Given the description of an element on the screen output the (x, y) to click on. 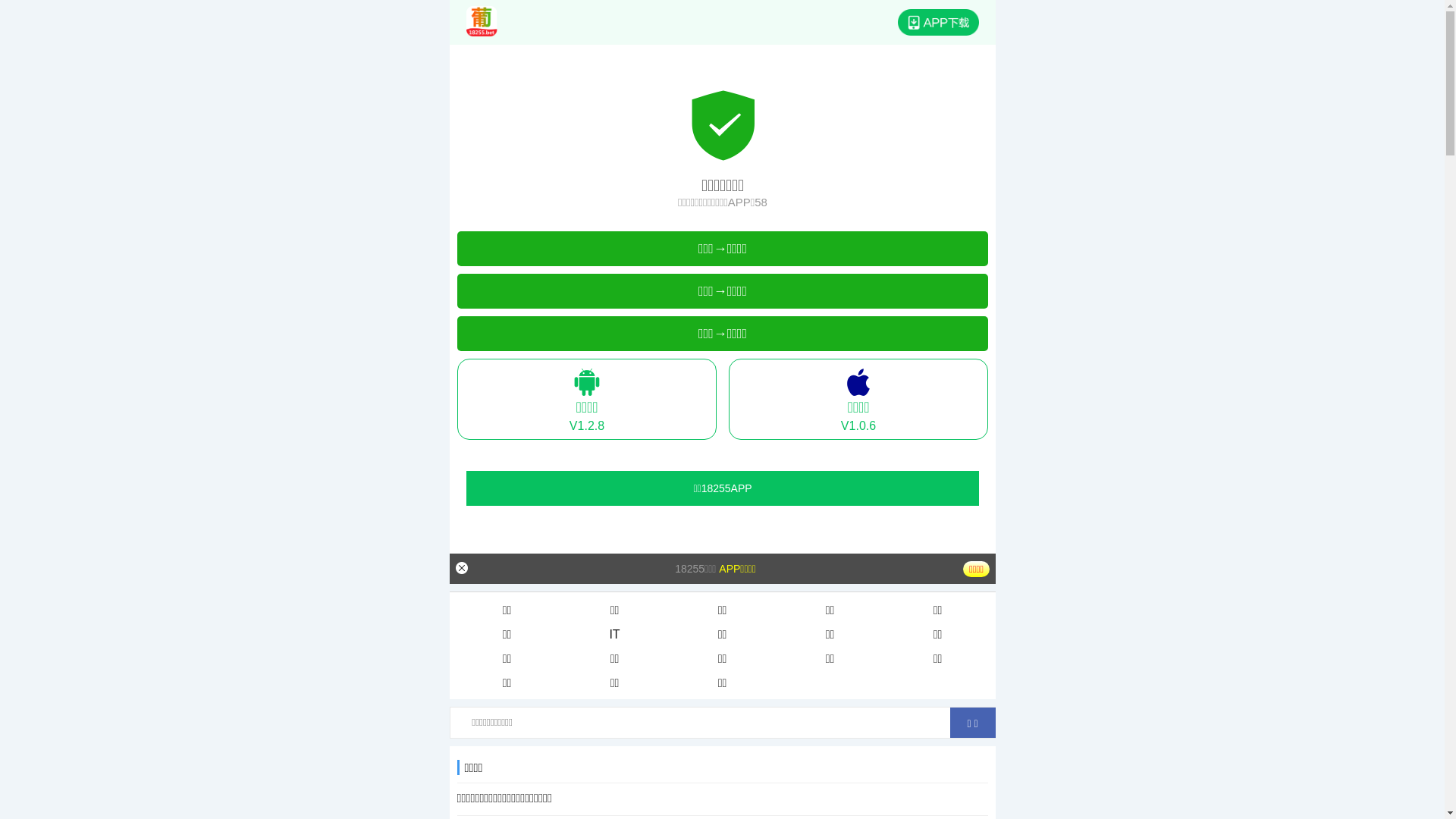
IT Element type: text (614, 634)
